Given the description of an element on the screen output the (x, y) to click on. 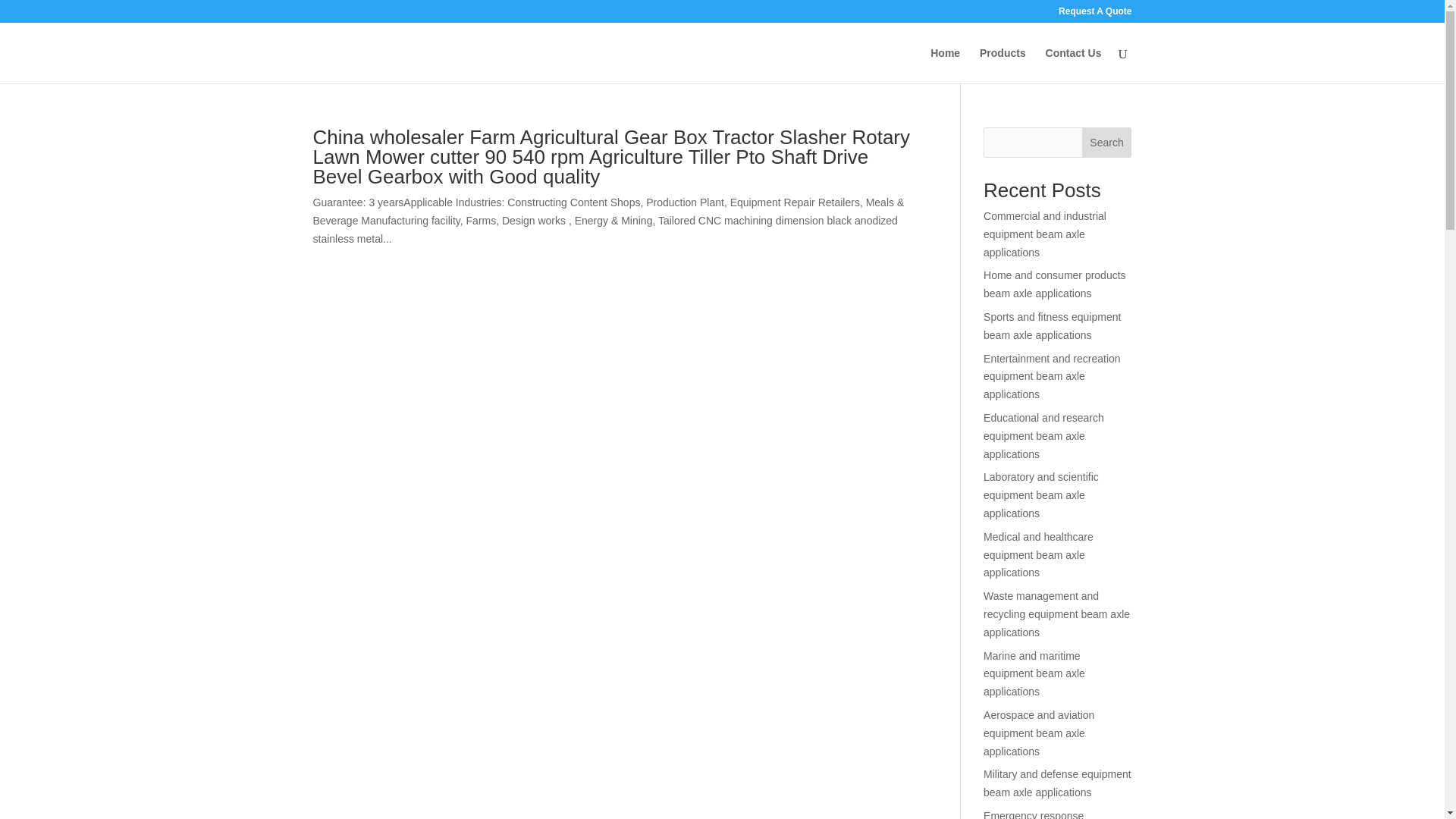
Military and defense equipment beam axle applications (1057, 783)
Search (1106, 142)
Sports and fitness equipment beam axle applications (1052, 326)
Home and consumer products beam axle applications (1054, 284)
Emergency response equipment beam axle applications (1034, 814)
Medical and healthcare equipment beam axle applications (1038, 554)
Commercial and industrial equipment beam axle applications (1045, 233)
Laboratory and scientific equipment beam axle applications (1041, 494)
Aerospace and aviation equipment beam axle applications (1039, 733)
Contact Us (1073, 65)
Educational and research equipment beam axle applications (1043, 435)
Products (1002, 65)
